Given the description of an element on the screen output the (x, y) to click on. 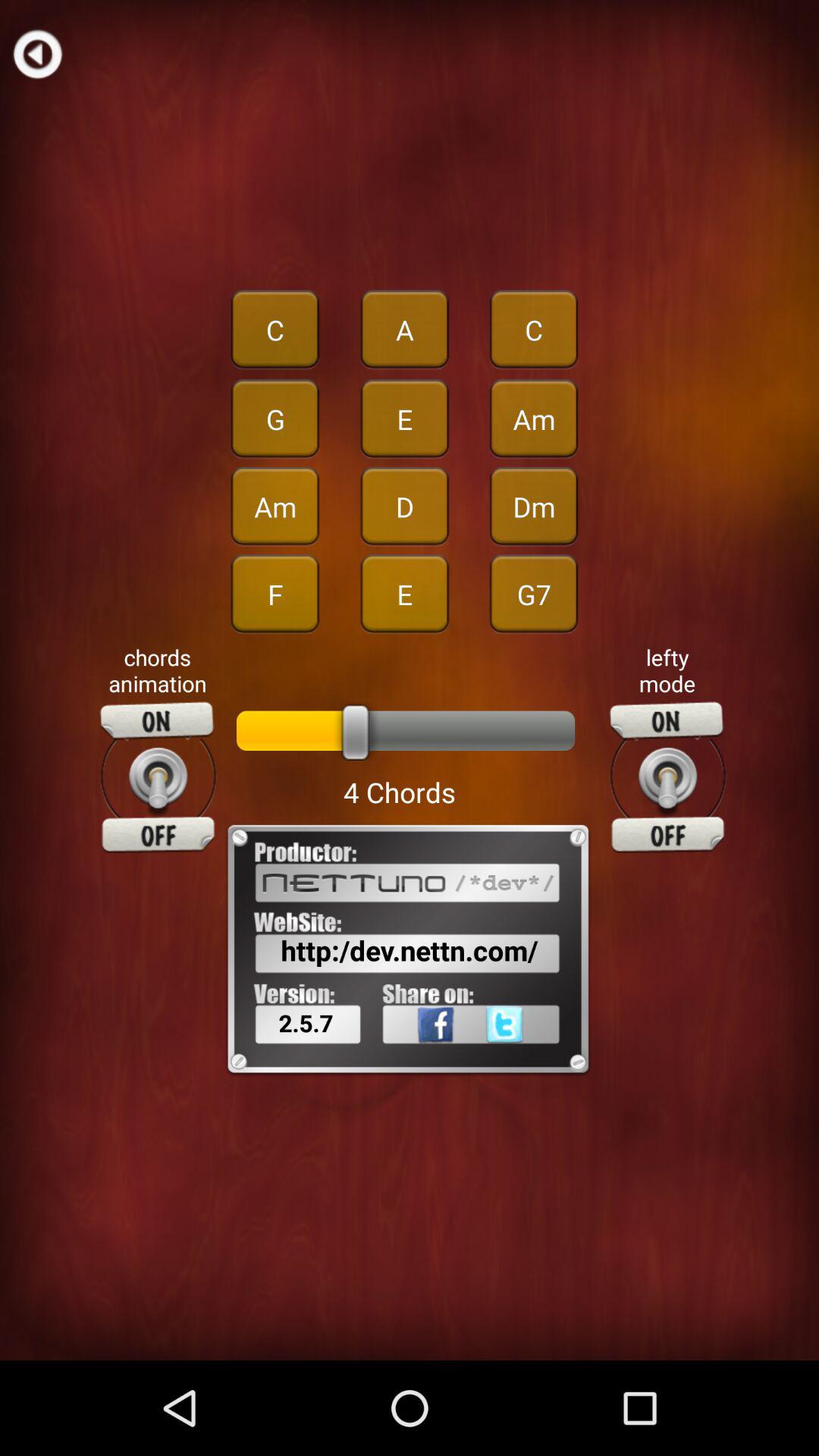
select item at the top left corner (37, 53)
